Given the description of an element on the screen output the (x, y) to click on. 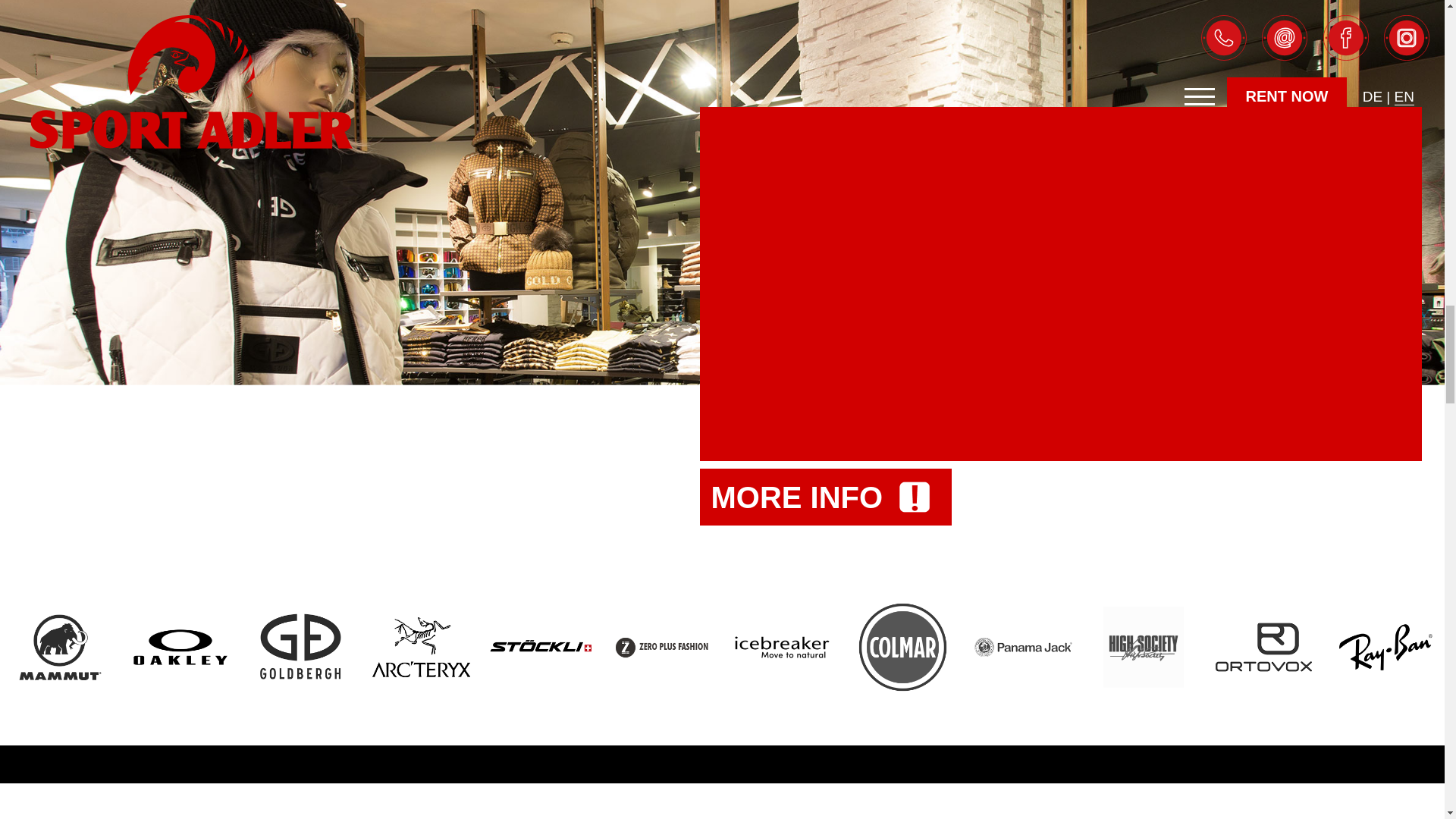
MORE INFO (825, 496)
